Given the description of an element on the screen output the (x, y) to click on. 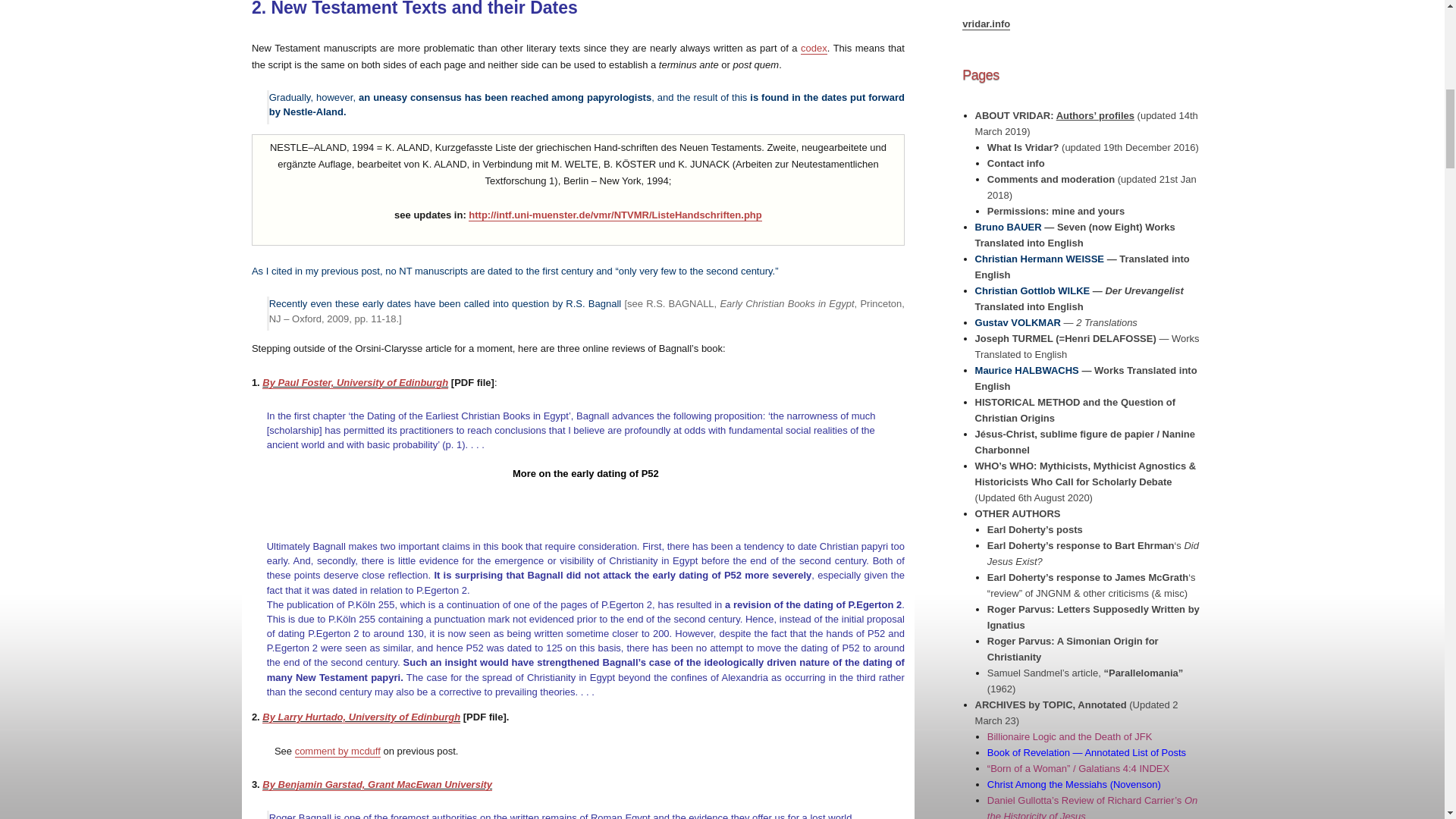
codex (813, 48)
comment by mcduff (337, 750)
By Benjamin Garstad, Grant MacEwan University (377, 784)
By Larry Hurtado, University of Edinburgh (361, 716)
By Paul Foster, University of Edinburgh (355, 382)
